Given the description of an element on the screen output the (x, y) to click on. 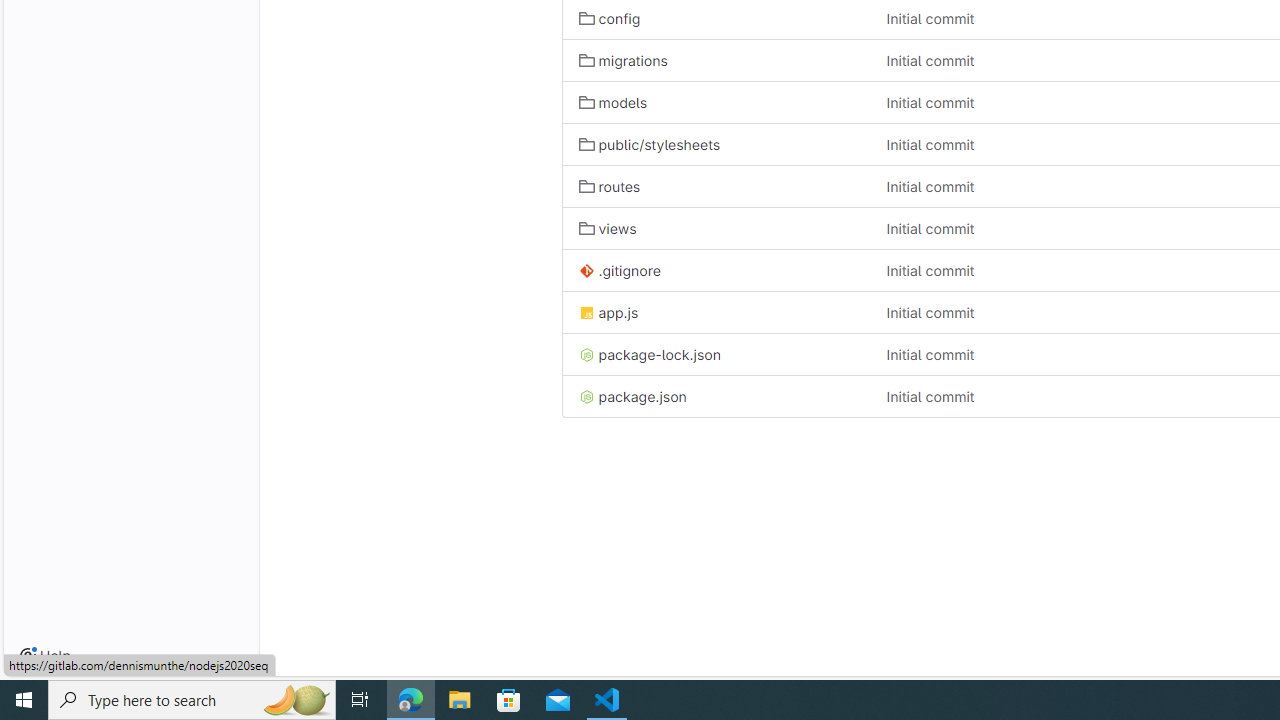
app.js (715, 312)
config (609, 18)
migrations (715, 60)
package.json (632, 396)
views (607, 228)
package-lock.json (649, 354)
routes (715, 186)
models (612, 102)
migrations (623, 60)
routes (609, 186)
package.json (715, 396)
.gitignore (715, 270)
public/stylesheets (715, 144)
app.js (608, 312)
models (715, 101)
